Given the description of an element on the screen output the (x, y) to click on. 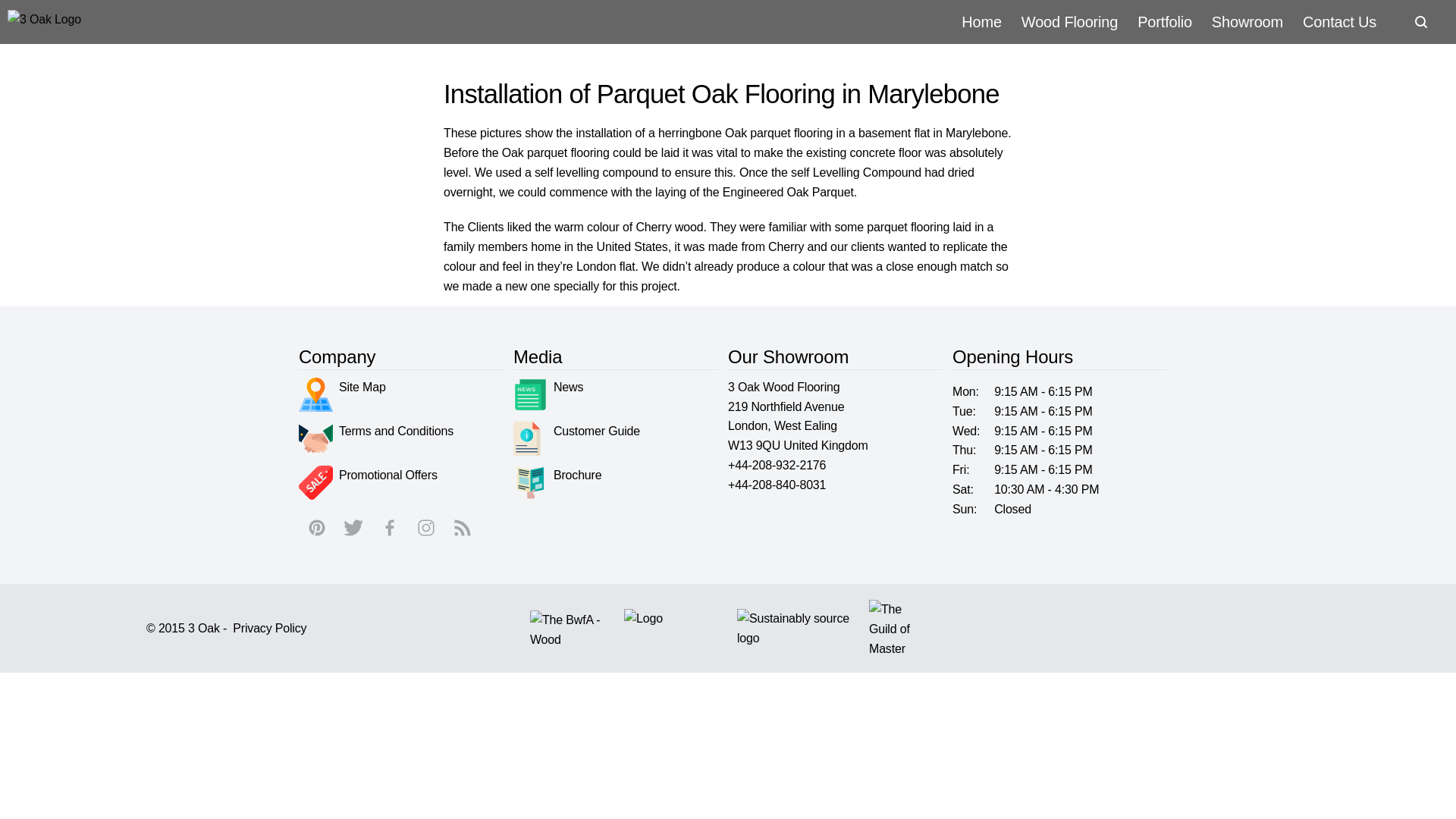
News (548, 394)
twitter (352, 527)
Site Map (341, 394)
Site Map (341, 394)
Portfolio (1164, 22)
Terms and Conditions (375, 438)
Customer Guide (576, 438)
Contact Us (1339, 22)
Home (981, 22)
Contact Us (1339, 22)
